Given the description of an element on the screen output the (x, y) to click on. 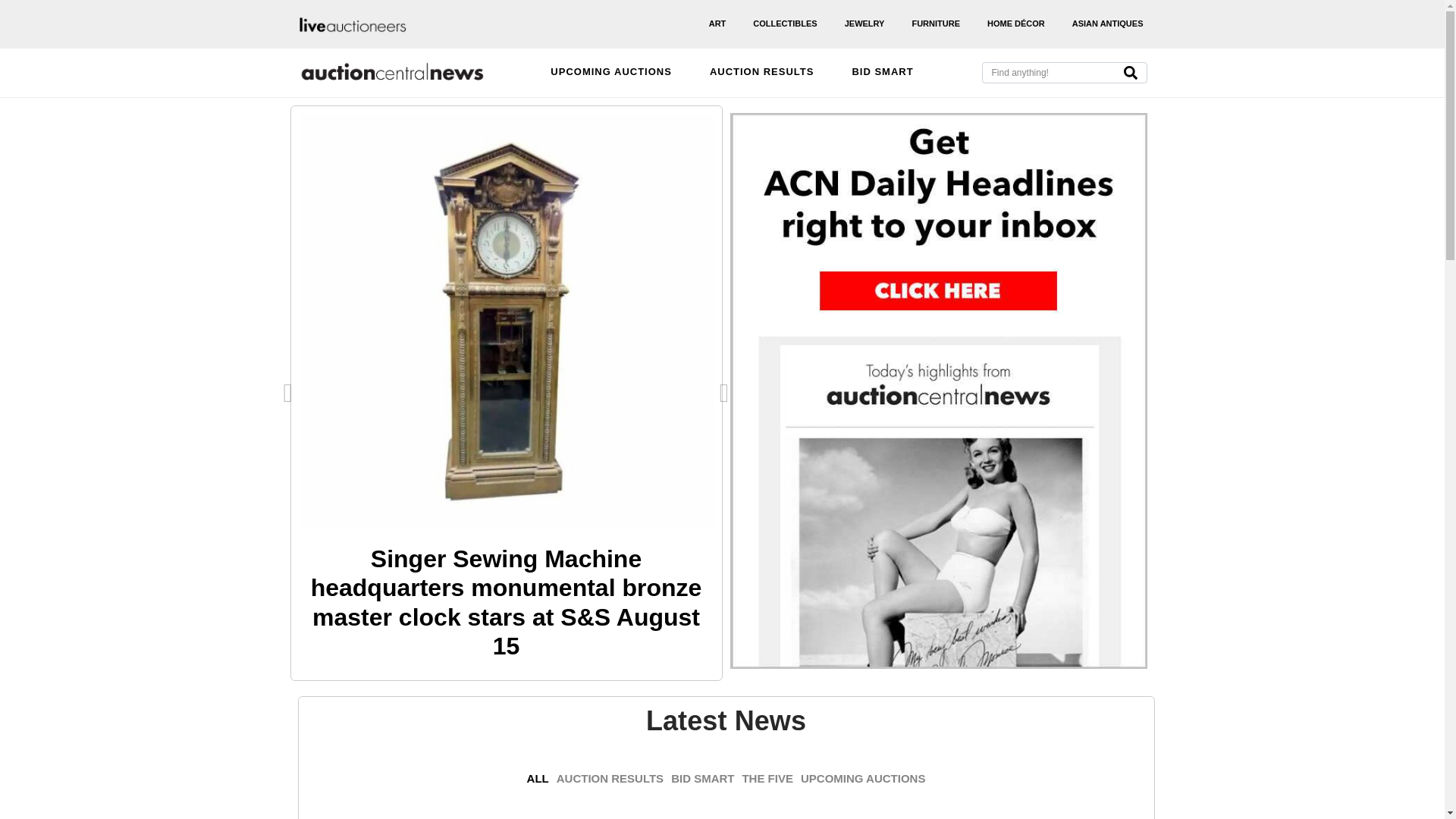
COLLECTIBLES (785, 23)
UPCOMING AUCTIONS (611, 72)
JEWELRY (864, 23)
AUCTION RESULTS (762, 72)
FURNITURE (935, 23)
BID SMART (882, 72)
ASIAN ANTIQUES (1107, 23)
